Given the description of an element on the screen output the (x, y) to click on. 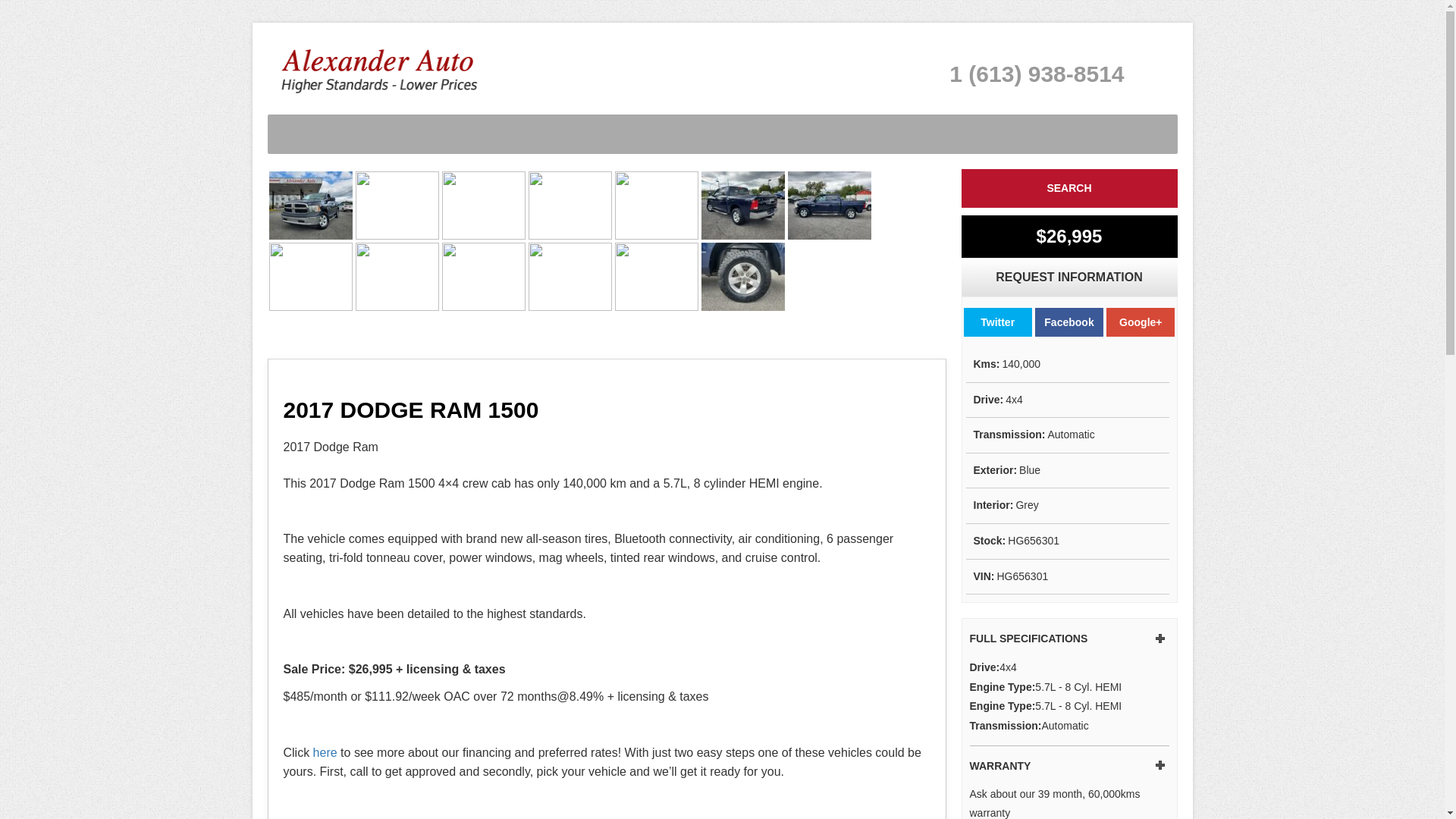
SEARCH Element type: text (1069, 188)
REQUEST INFORMATION Element type: text (1069, 276)
Google+ Element type: text (1140, 322)
Facebook Element type: text (1068, 322)
here Element type: text (325, 752)
Twitter Element type: text (997, 322)
1 (613) 938-8514 Element type: text (1036, 73)
